Given the description of an element on the screen output the (x, y) to click on. 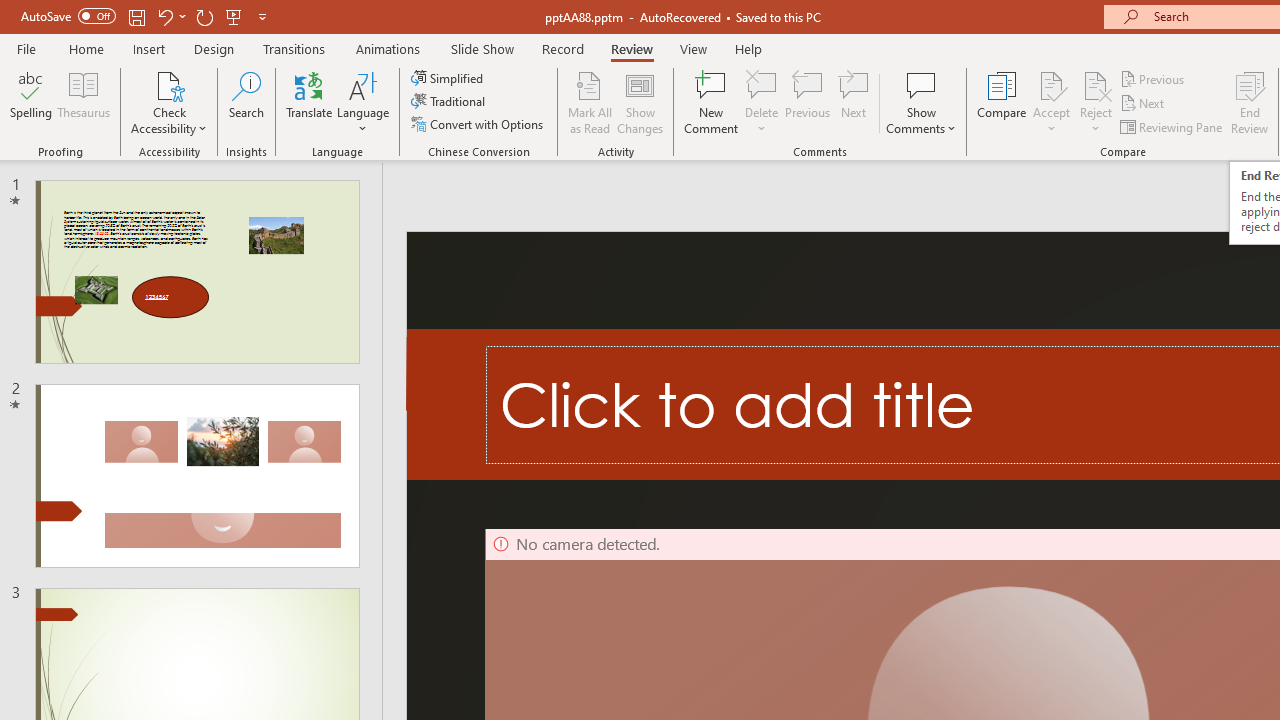
Previous (1153, 78)
